Given the description of an element on the screen output the (x, y) to click on. 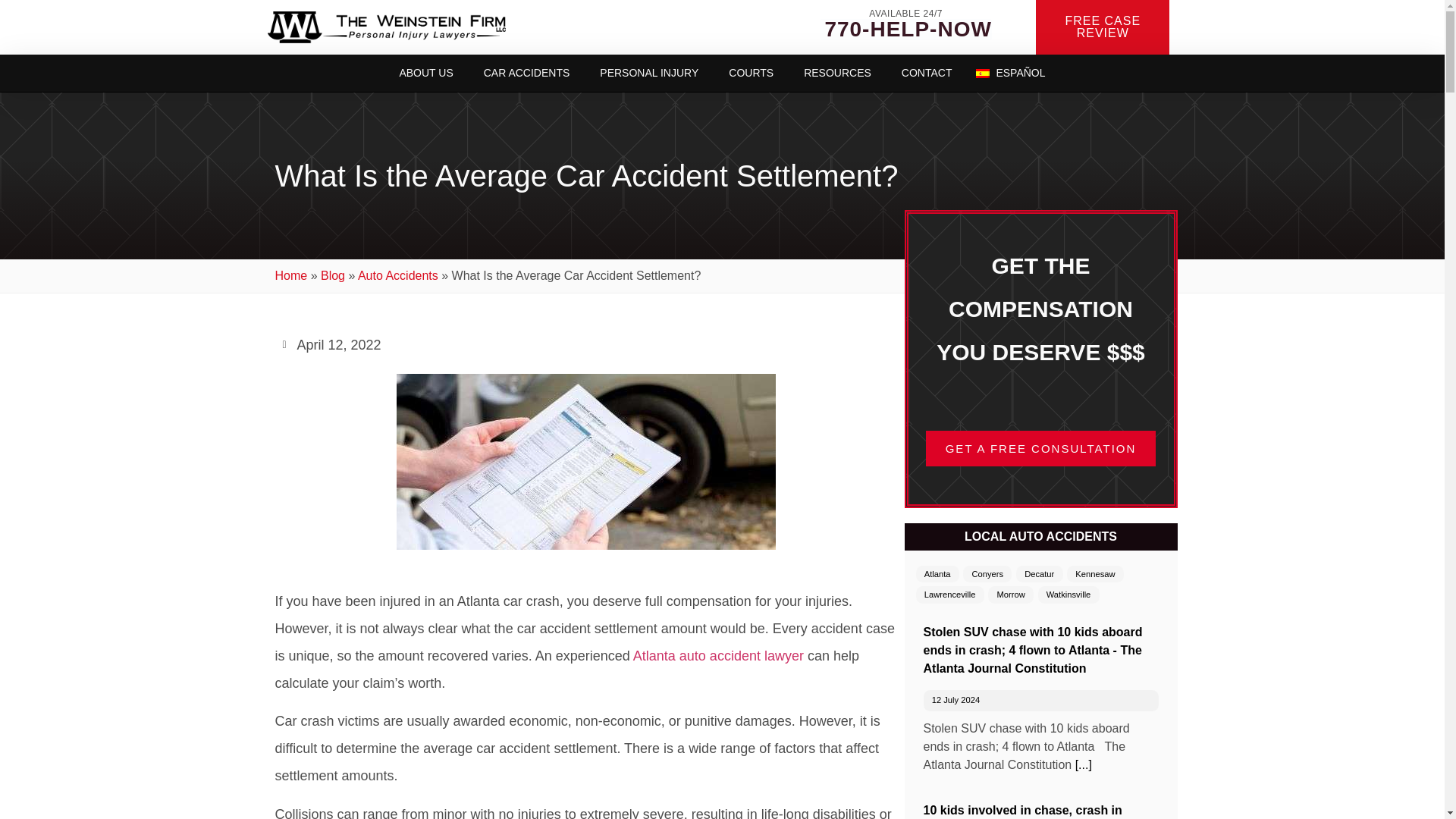
FREE CASE REVIEW (1106, 27)
12 July 2024, 6:42 pm UTC (955, 699)
Read more (1083, 764)
PERSONAL INJURY (649, 73)
RESOURCES (837, 73)
770-HELP-NOW (905, 29)
COURTS (751, 73)
CONTACT (927, 73)
CAR ACCIDENTS (526, 73)
ABOUT US (425, 73)
